Given the description of an element on the screen output the (x, y) to click on. 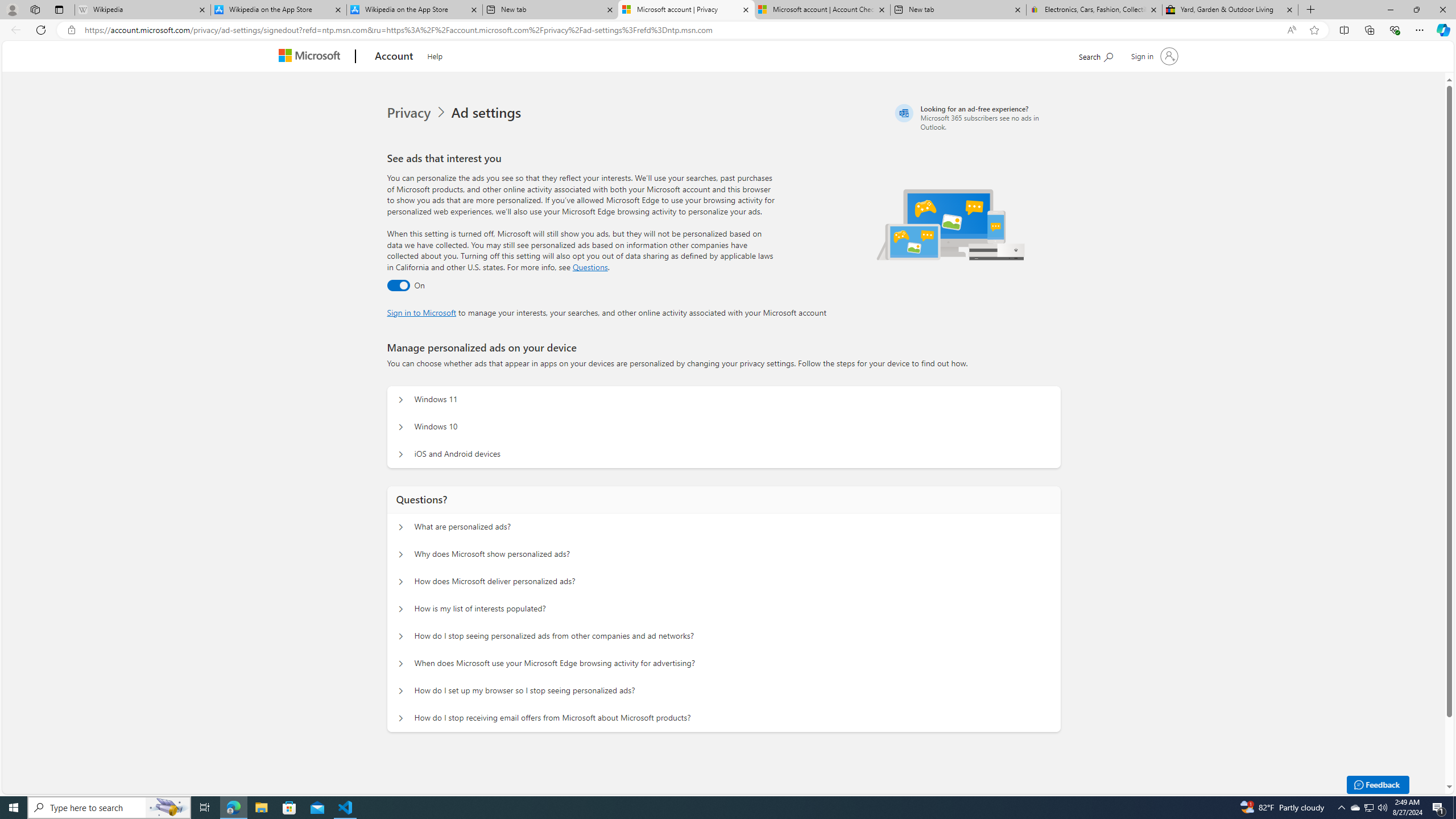
Looking for an ad-free experience? (976, 117)
